Given the description of an element on the screen output the (x, y) to click on. 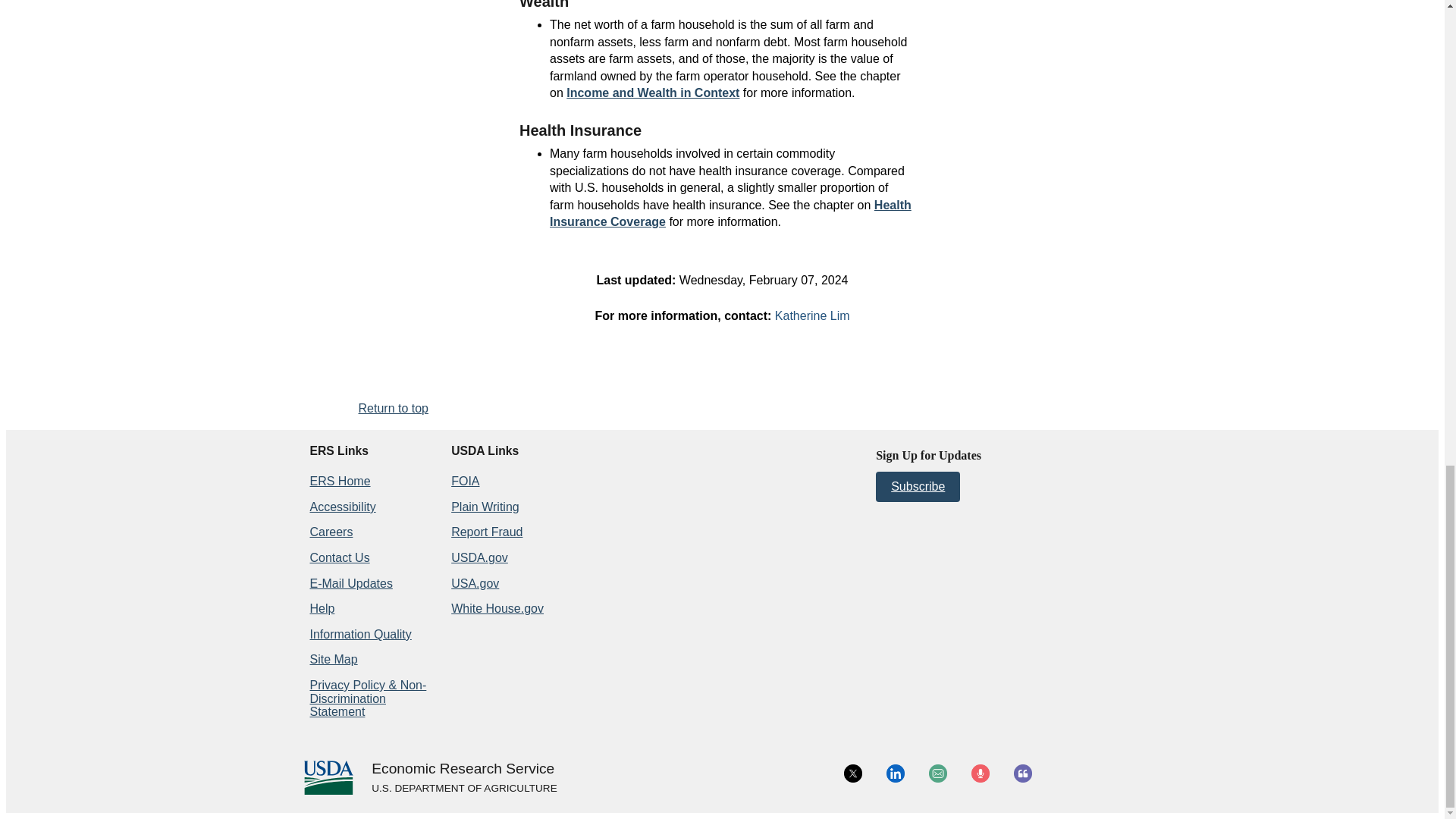
Health Insurance Coverage (730, 213)
Multimedia Icon (979, 773)
Home (462, 768)
Income and Wealth in Context (652, 92)
Income and Wealth in Context (652, 92)
LinkedIn icon (894, 773)
Email Icon (937, 773)
Health Insurance Coverage (730, 213)
USDA.gov (463, 788)
Blog Icon (1021, 773)
